Given the description of an element on the screen output the (x, y) to click on. 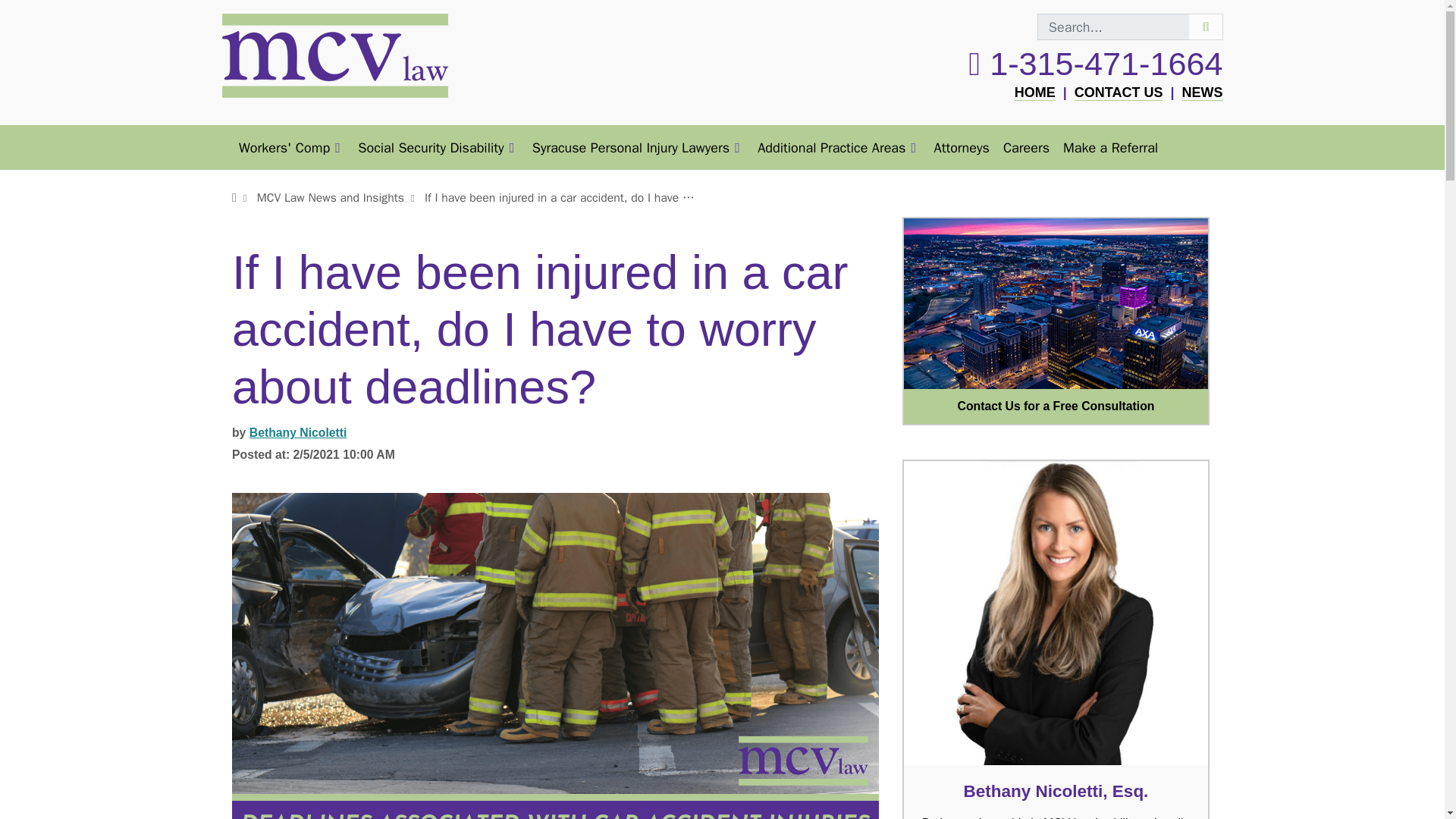
Syracuse Personal Injury Lawyers (638, 147)
HOME (1034, 92)
Contact Us (1056, 303)
NEWS (1201, 92)
Contact Us (1118, 92)
MCV Law (1034, 92)
1-315-471-1664 (1095, 63)
Blog (1201, 92)
Contact Us (1056, 406)
CONTACT US (1118, 92)
